Given the description of an element on the screen output the (x, y) to click on. 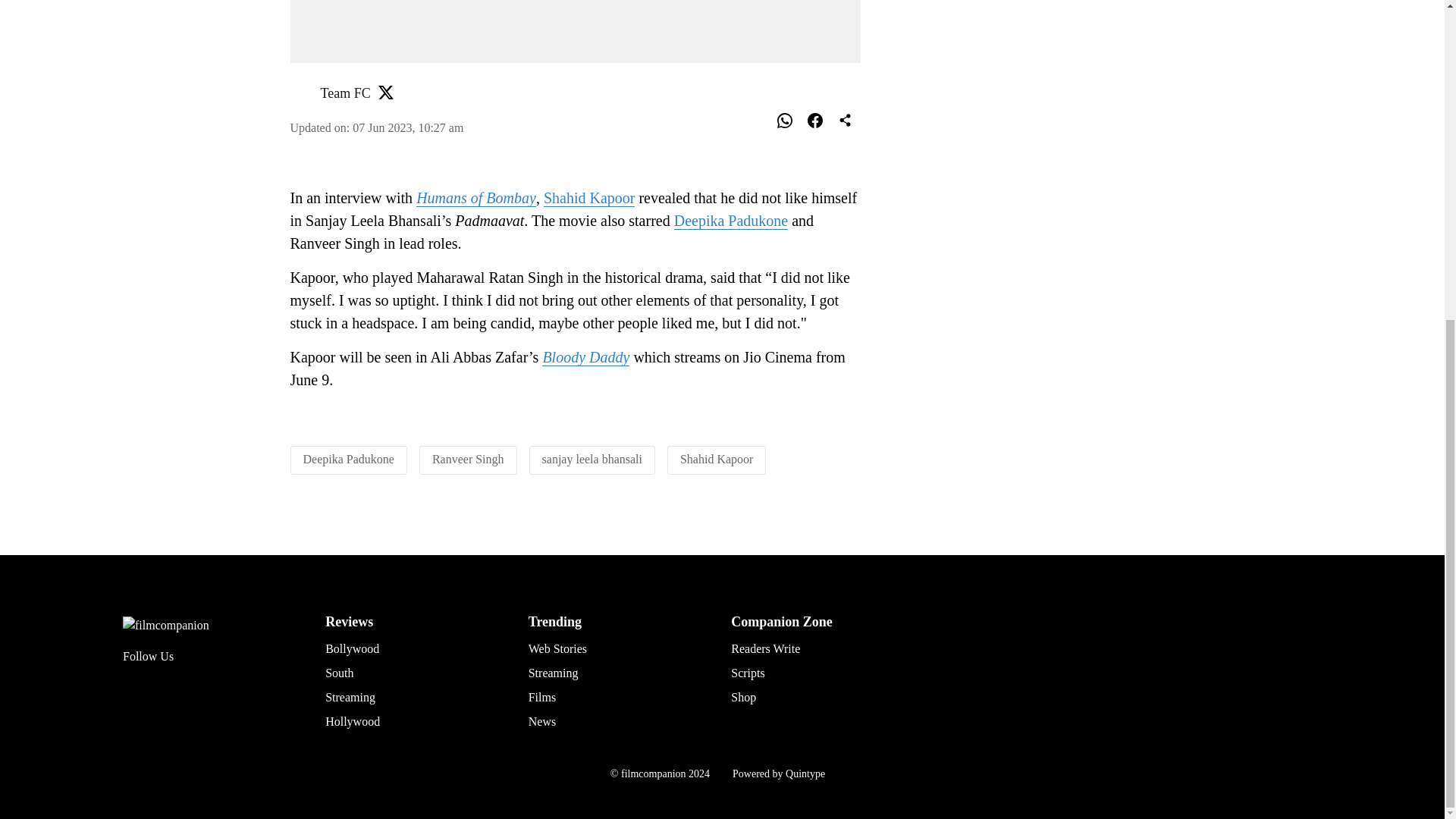
Team FC (344, 92)
